Given the description of an element on the screen output the (x, y) to click on. 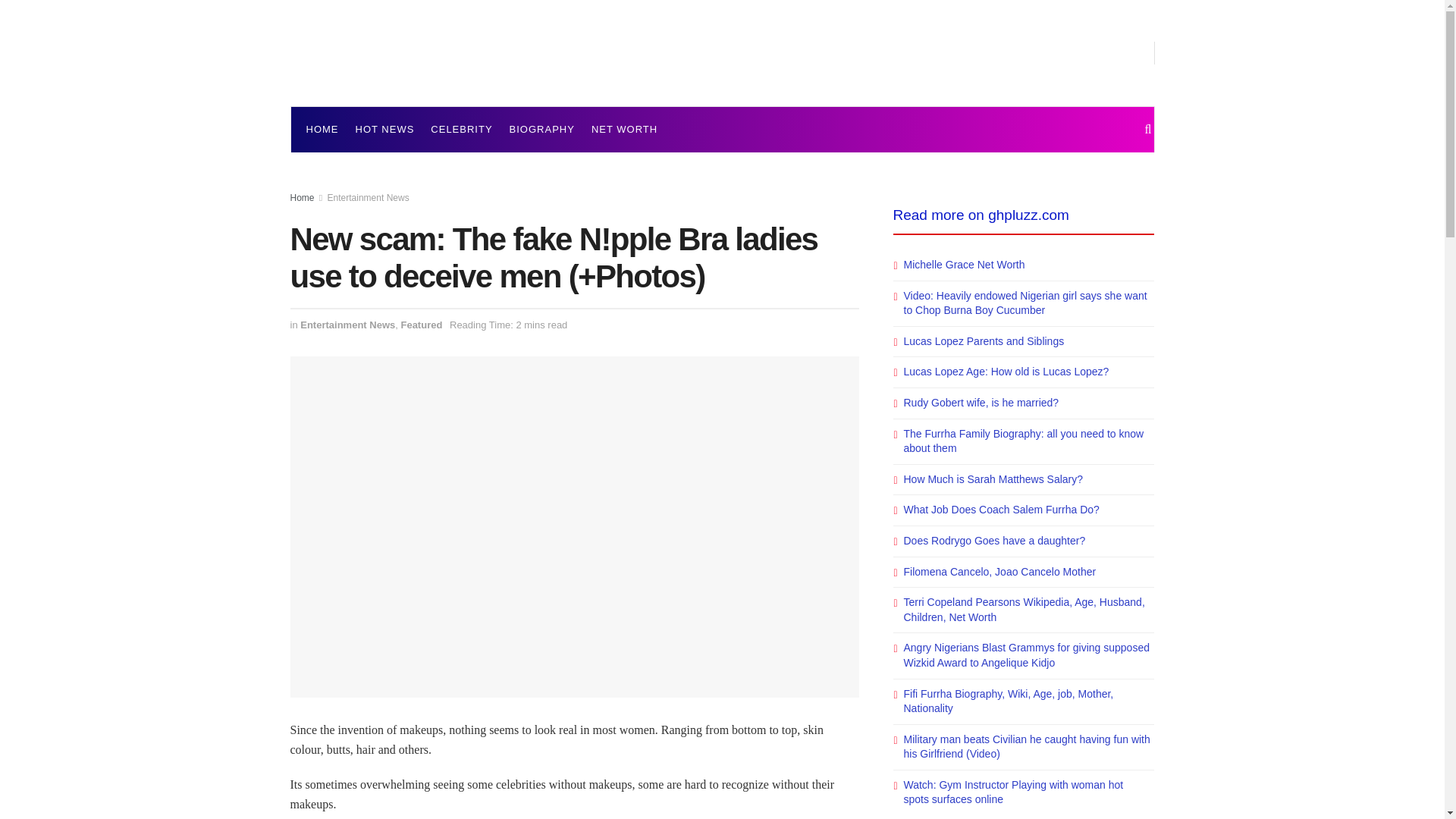
Home (301, 197)
Entertainment News (346, 324)
Lucas Lopez Parents and Siblings (984, 340)
Entertainment News (368, 197)
BIOGRAPHY (542, 129)
Featured (421, 324)
HOME (322, 129)
NET WORTH (624, 129)
HOT NEWS (384, 129)
Lucas Lopez Age: How old is Lucas Lopez? (1006, 371)
Michelle Grace Net Worth (964, 264)
Read more on ghpluzz.com (980, 214)
CELEBRITY (461, 129)
